Given the description of an element on the screen output the (x, y) to click on. 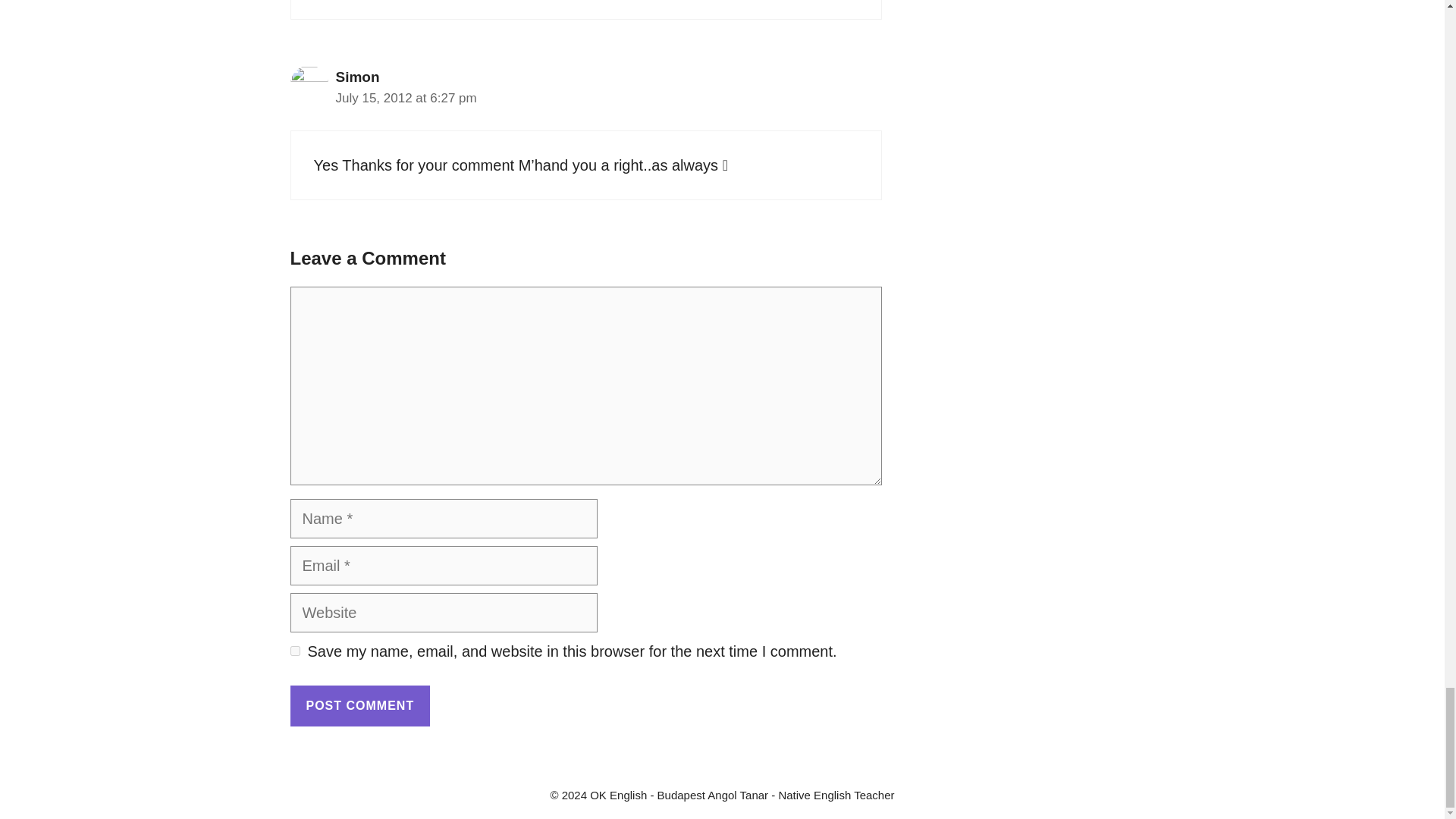
yes (294, 651)
Post Comment (359, 705)
July 15, 2012 at 6:27 pm (405, 97)
Post Comment (359, 705)
